Given the description of an element on the screen output the (x, y) to click on. 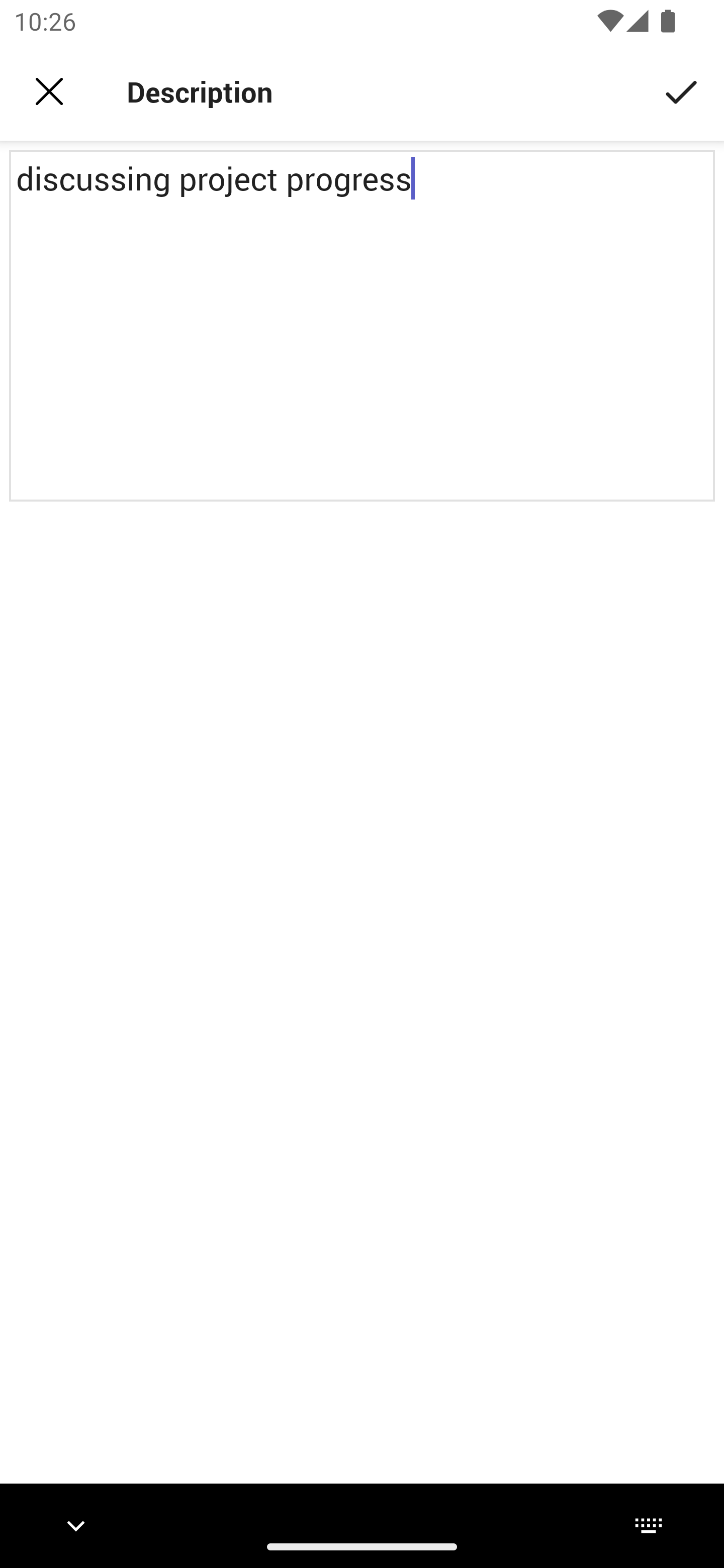
Back (49, 91)
Submit (681, 90)
discussing project progress (361, 325)
